Given the description of an element on the screen output the (x, y) to click on. 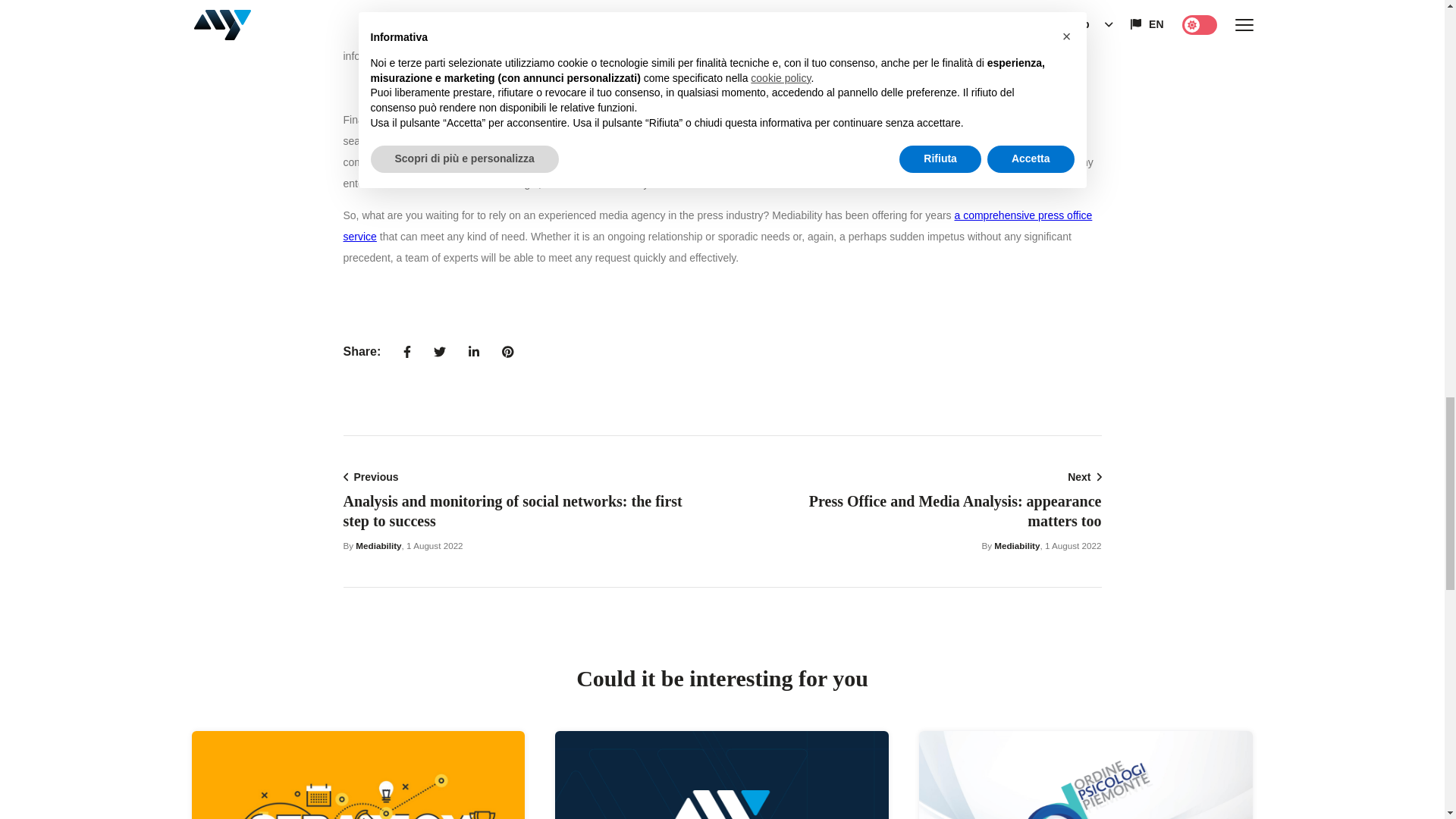
Press Office and Media Analysis: appearance matters too (955, 511)
Mediability (378, 545)
Next (1083, 476)
a comprehensive press office service (717, 225)
Mediability (1016, 545)
Share on Twitter (439, 351)
Previous (369, 476)
